Given the description of an element on the screen output the (x, y) to click on. 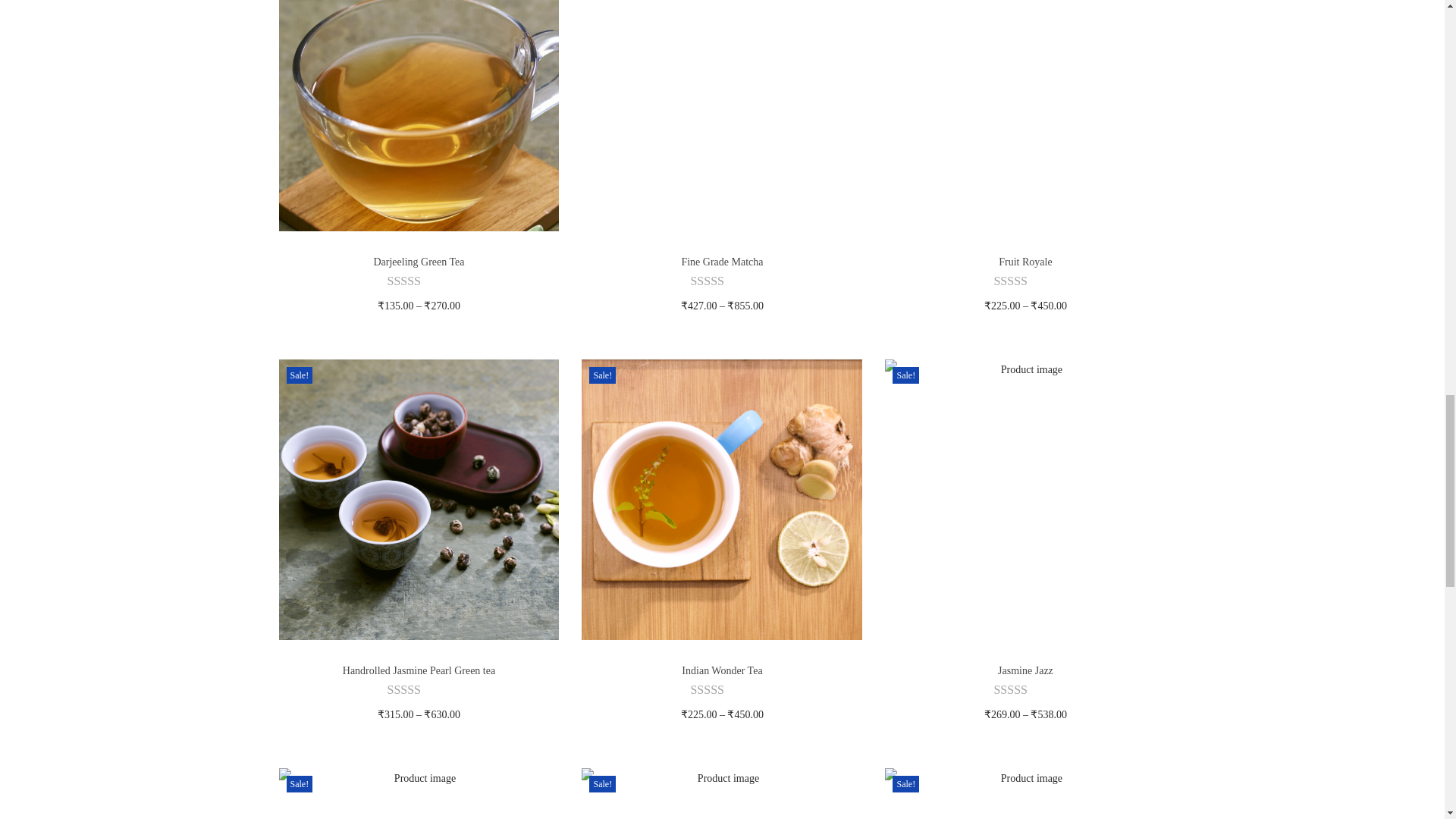
Fine Grade Matcha (721, 261)
Darjeeling Green Tea (418, 261)
Fruit Royale (1024, 261)
